Given the description of an element on the screen output the (x, y) to click on. 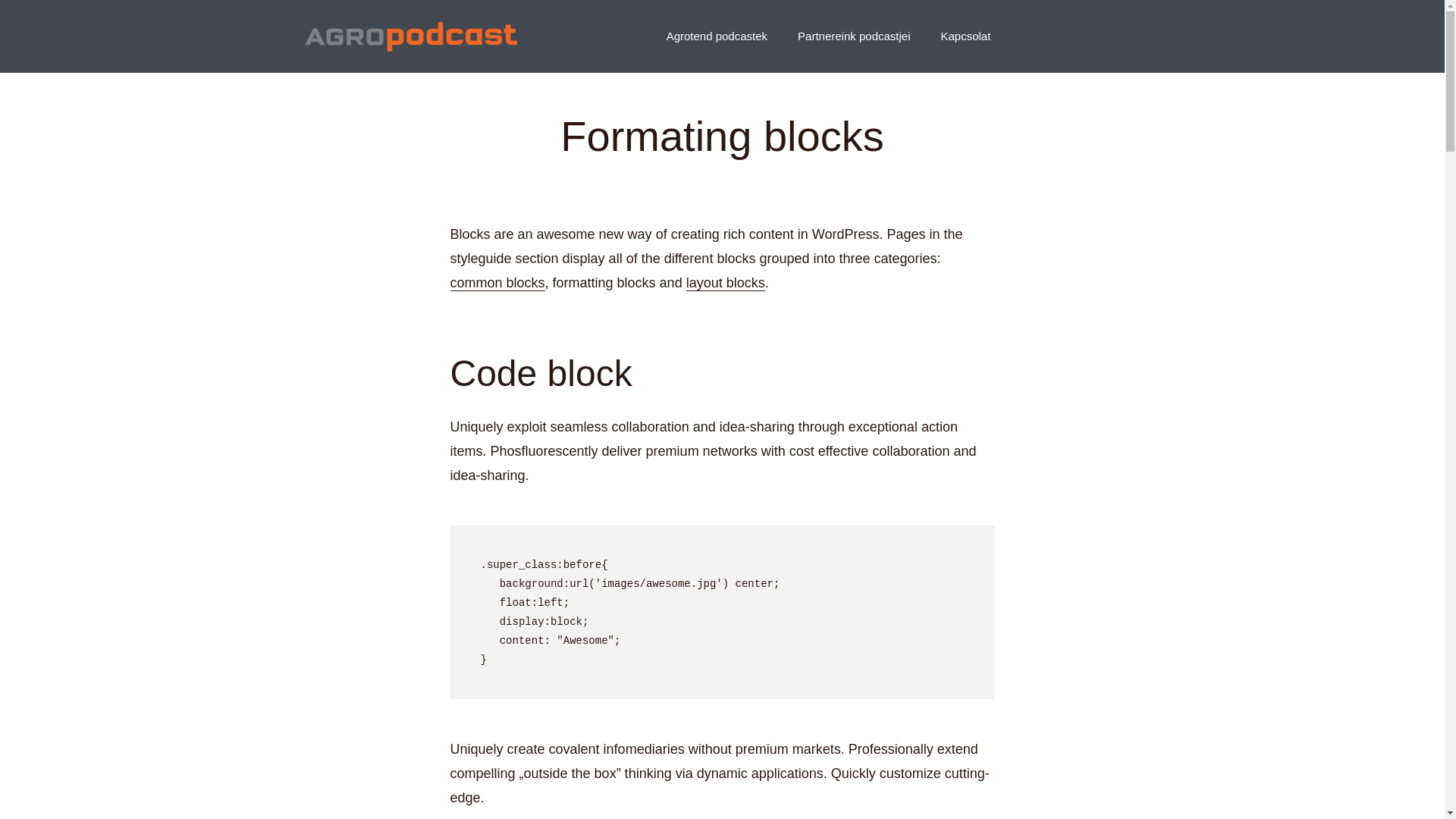
layout blocks (725, 283)
Kapcsolat (965, 36)
common blocks (496, 283)
Partnereink podcastjei (853, 36)
Agrotend podcastek (716, 36)
